Given the description of an element on the screen output the (x, y) to click on. 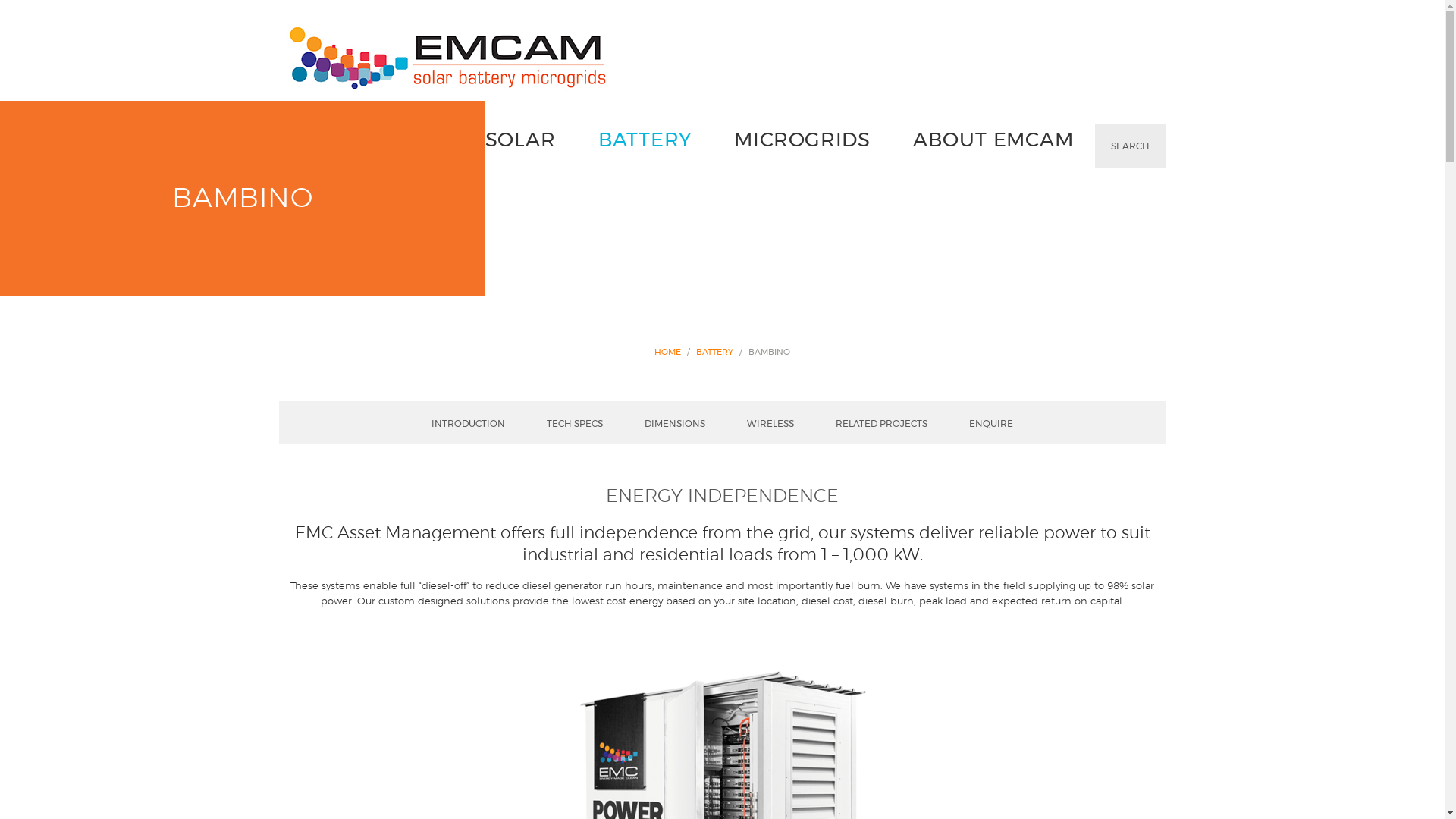
SOLAR Element type: text (520, 140)
BATTERY Element type: text (644, 140)
HOME Element type: text (667, 352)
PRIVACY POLICY Element type: text (1130, 731)
BATTERY Element type: text (714, 352)
WIRELESS Element type: text (770, 423)
+61 8 6168 8444 Element type: text (482, 754)
ENQUIRE Element type: text (990, 423)
TECH SPECS Element type: text (574, 423)
info@emcam.com.au Element type: text (661, 754)
DIMENSIONS Element type: text (674, 423)
MICROGRIDS Element type: text (802, 140)
INTRODUCTION Element type: text (467, 423)
ABOUT EMCAM Element type: text (993, 140)
RELATED PROJECTS Element type: text (881, 423)
1300 558 687 Element type: text (489, 769)
